Given the description of an element on the screen output the (x, y) to click on. 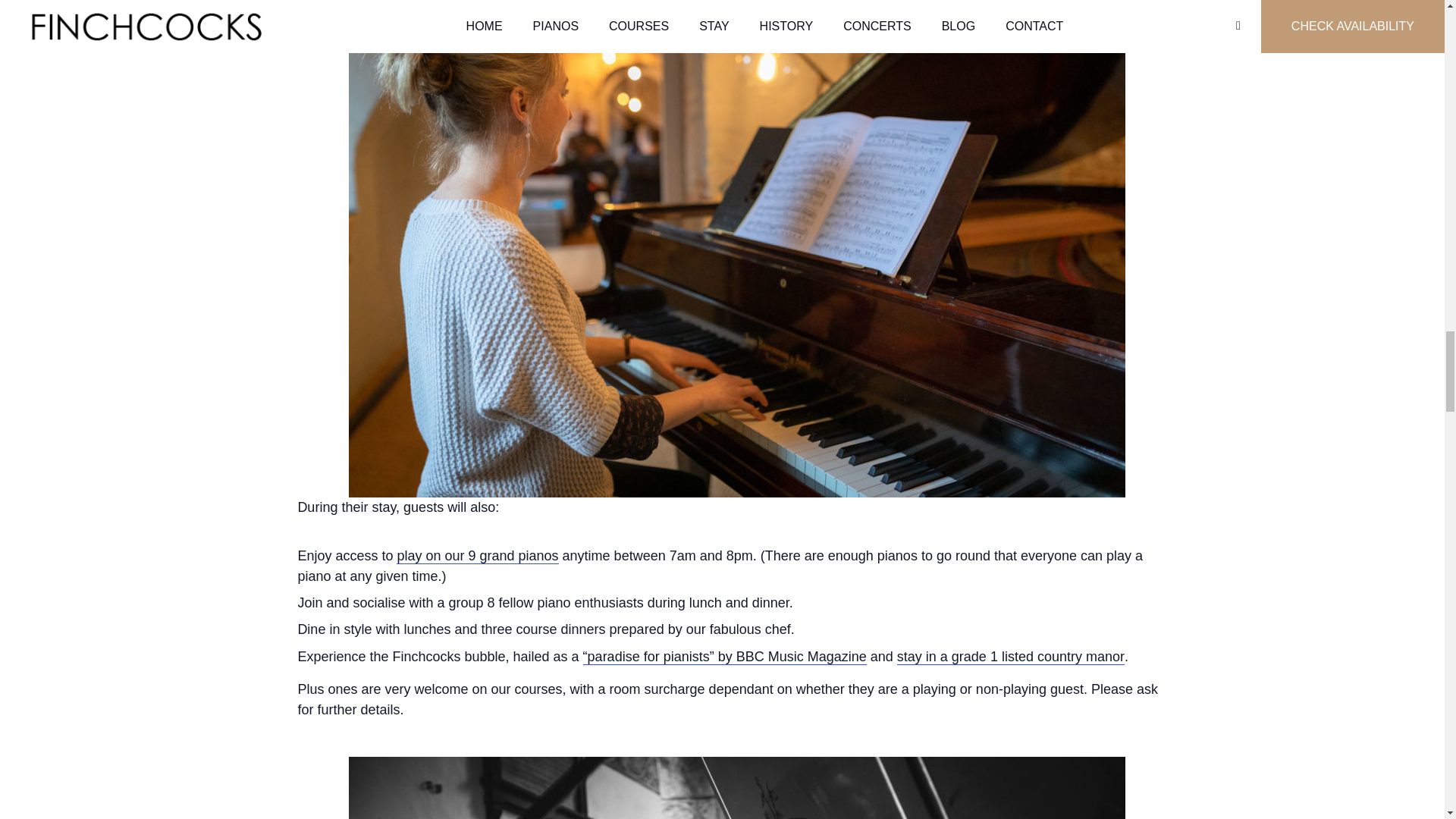
play on our 9 grand pianos (476, 555)
